Given the description of an element on the screen output the (x, y) to click on. 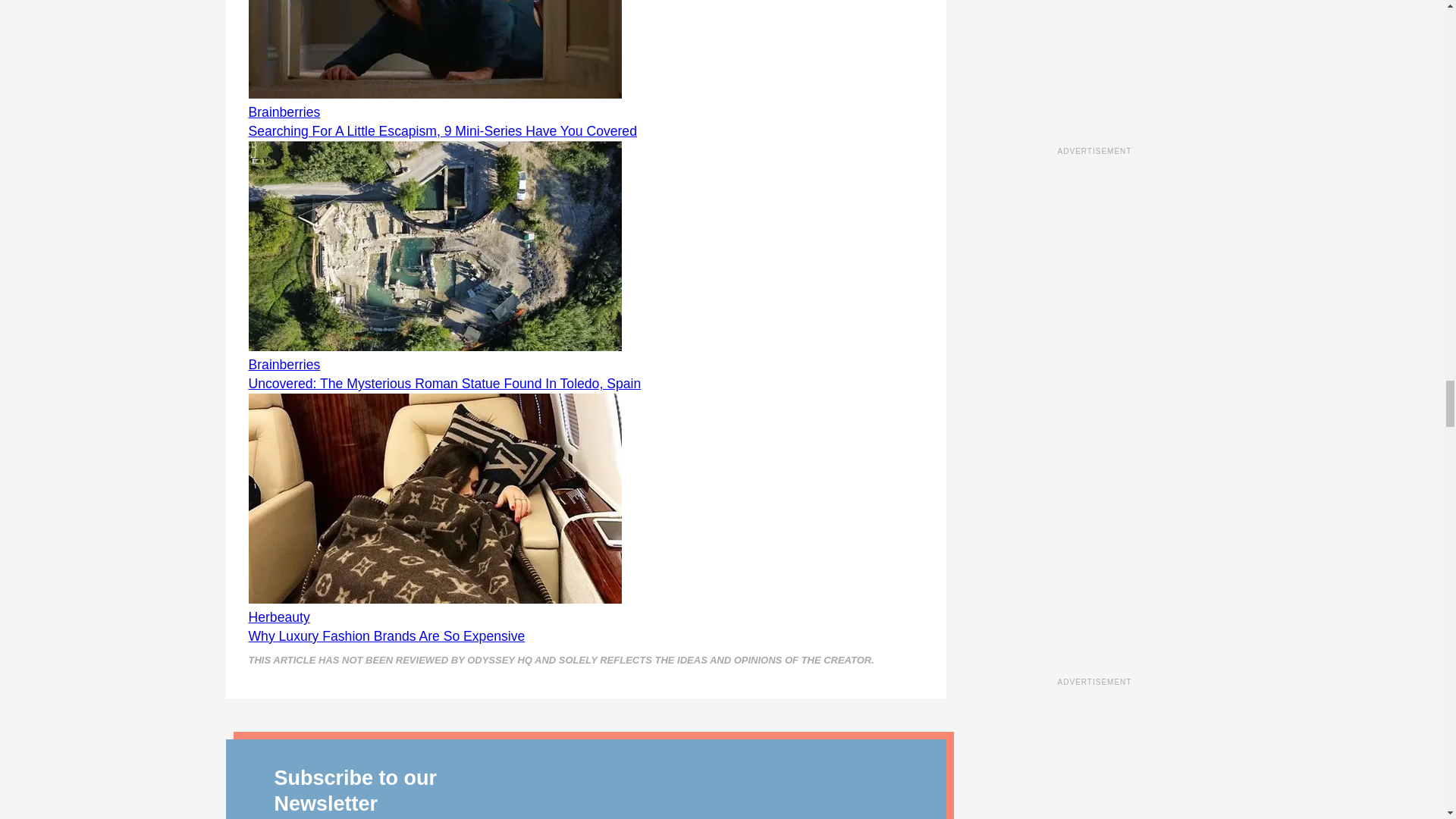
Form 0 (713, 798)
